Given the description of an element on the screen output the (x, y) to click on. 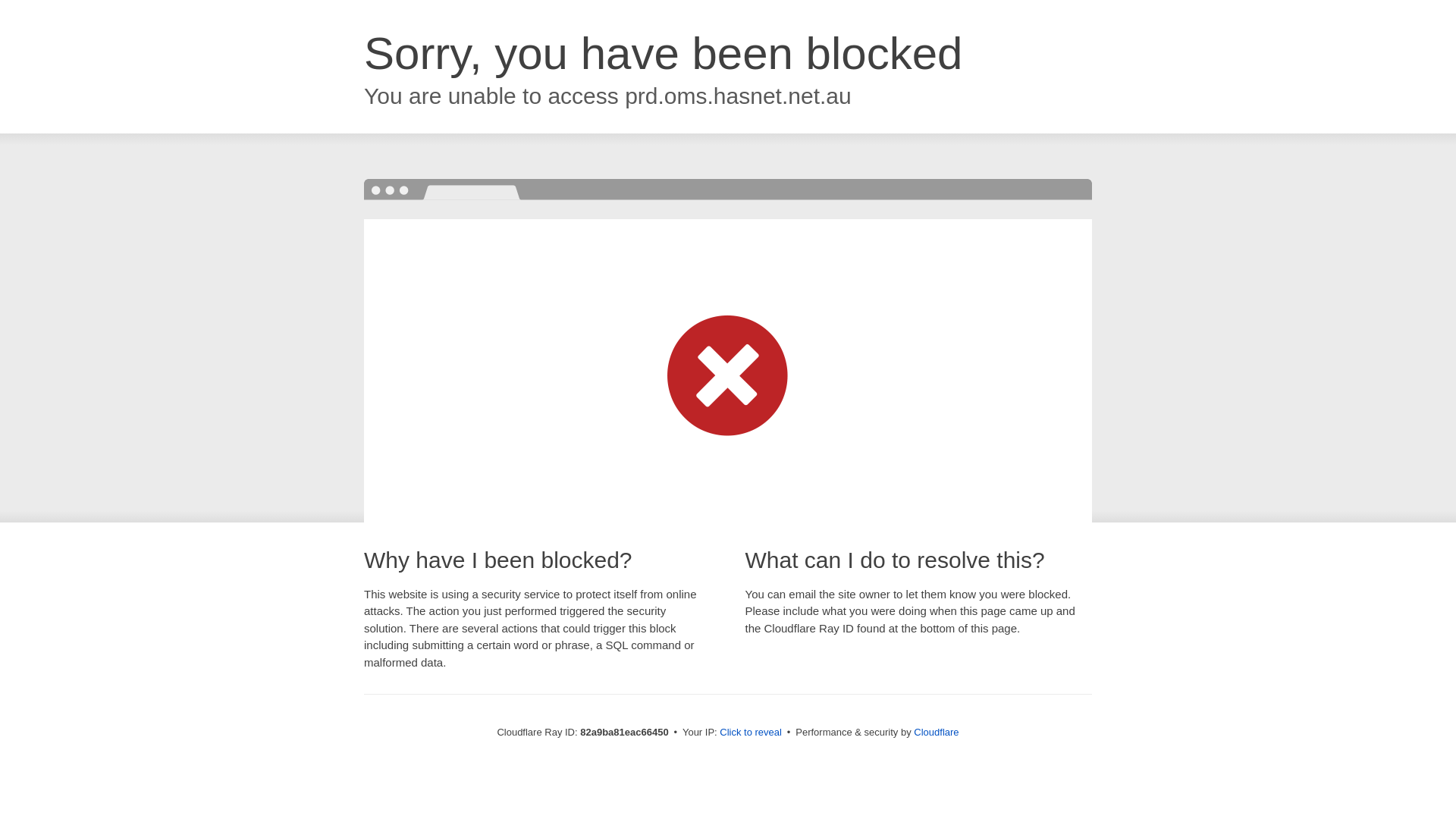
Cloudflare Element type: text (935, 731)
Click to reveal Element type: text (750, 732)
